Given the description of an element on the screen output the (x, y) to click on. 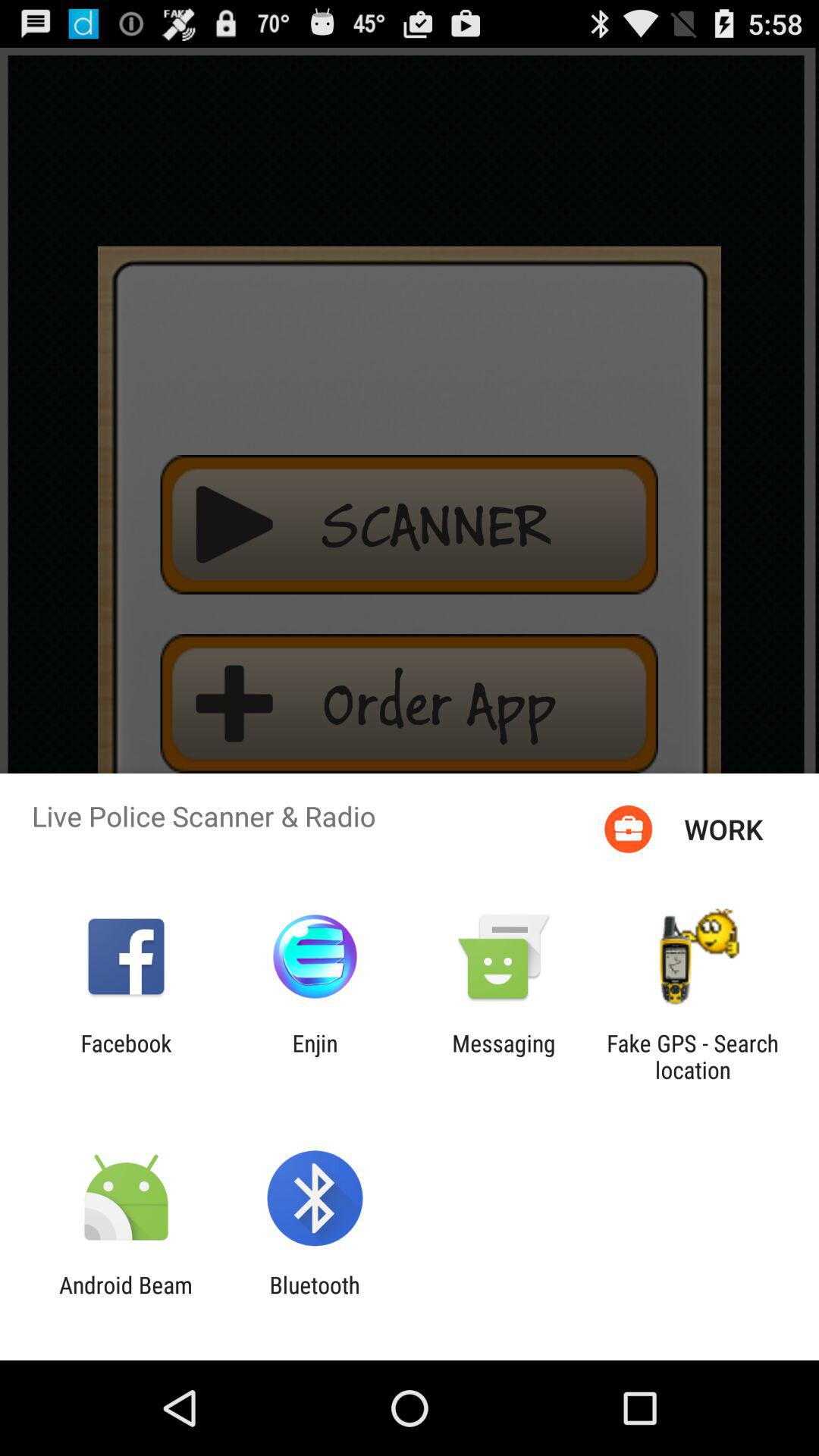
launch enjin item (314, 1056)
